Given the description of an element on the screen output the (x, y) to click on. 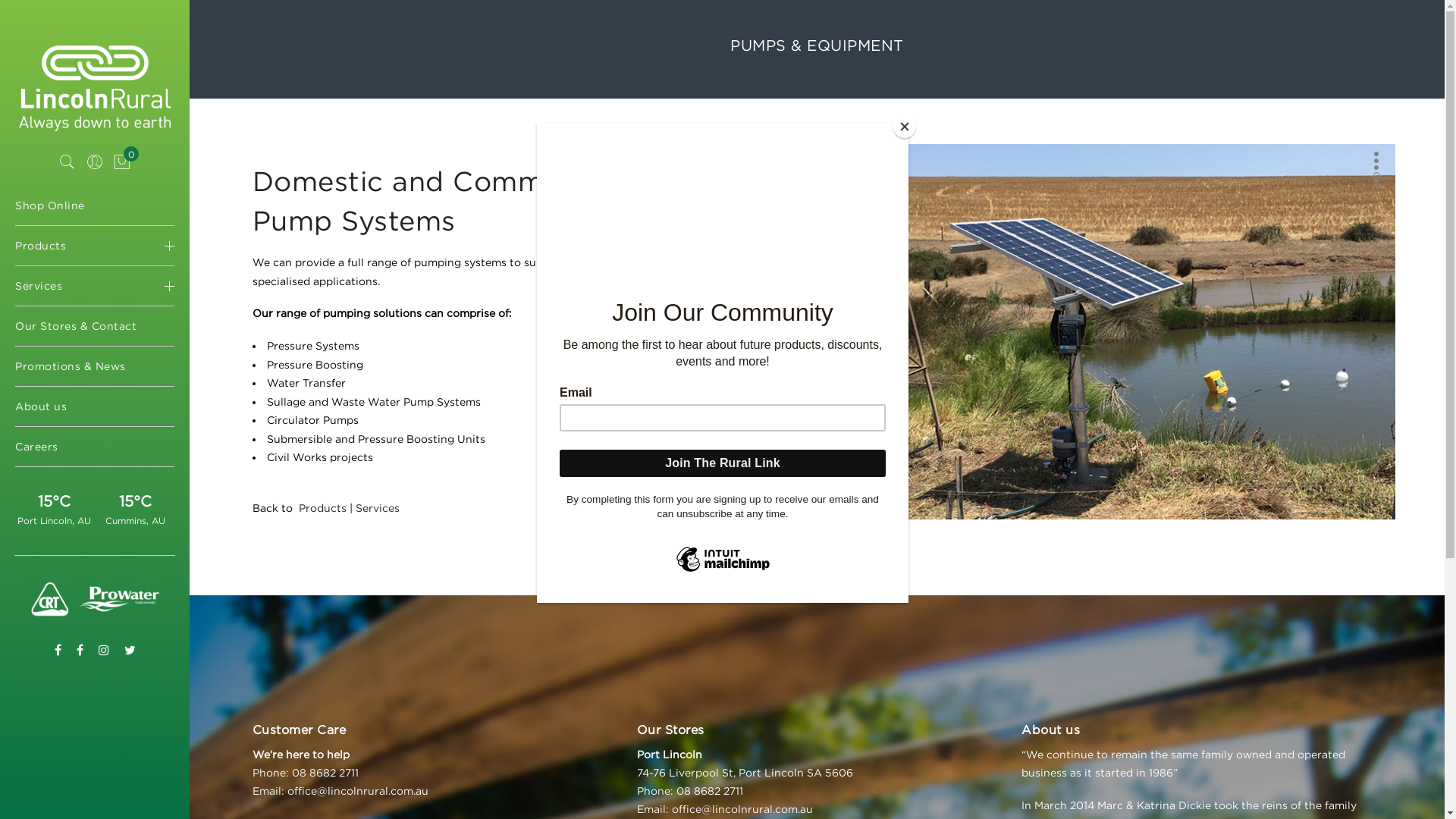
0 Element type: text (121, 162)
08 8682 2711 Element type: text (709, 790)
Products Element type: text (94, 245)
office@lincolnrural.com.au Element type: text (357, 790)
Search Element type: hover (67, 162)
Services Element type: text (94, 285)
About us Element type: text (94, 406)
office@lincolnrural.com.au Element type: text (741, 808)
08 8682 2711 Element type: text (324, 772)
Pump system Image Carousel_4 Element type: hover (1111, 333)
Shop Online Element type: text (94, 205)
Promotions & News Element type: text (94, 365)
Our Stores & Contact Element type: text (94, 325)
Products Element type: text (322, 507)
Services Element type: text (377, 507)
Careers Element type: text (94, 446)
